Given the description of an element on the screen output the (x, y) to click on. 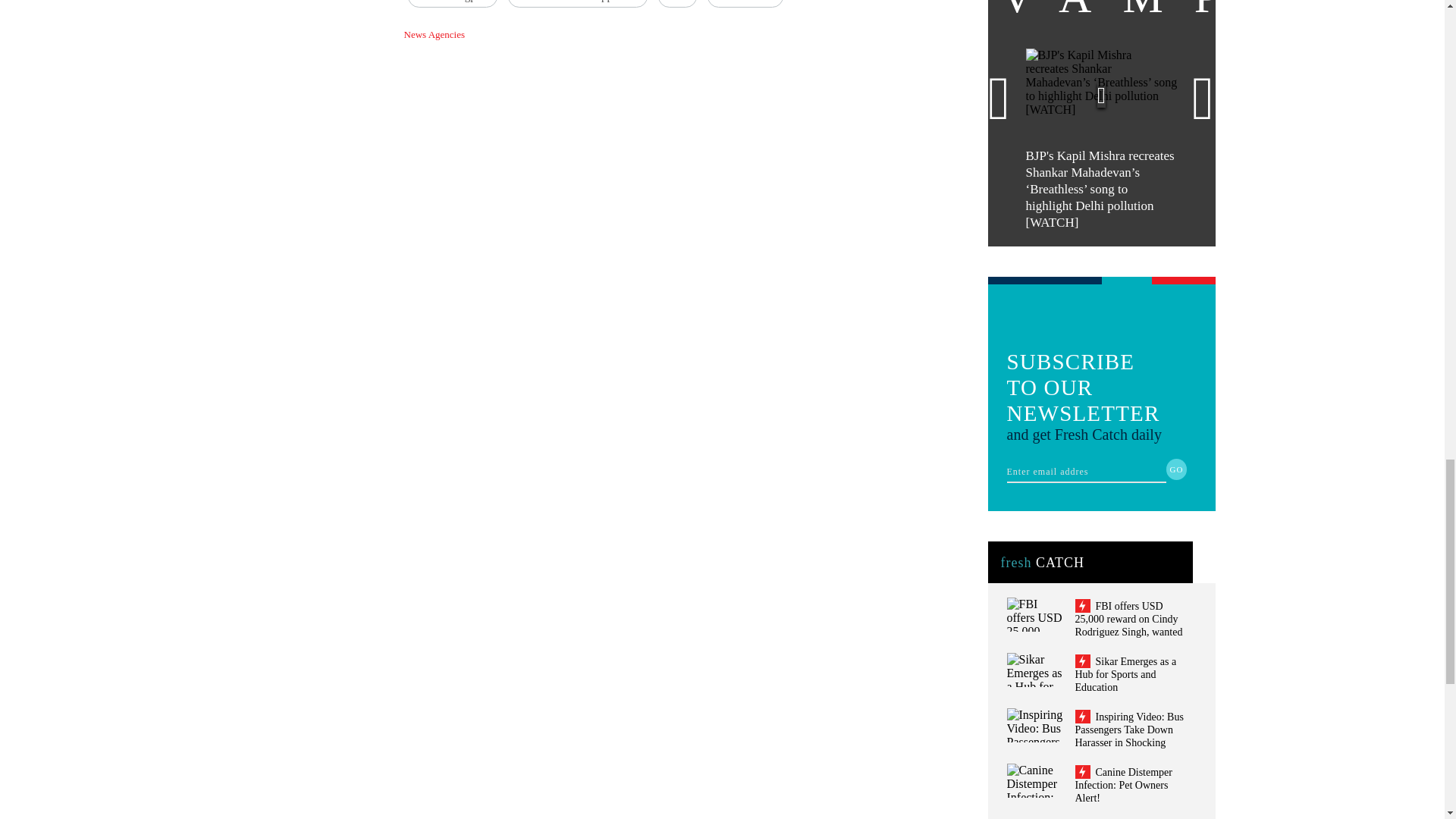
GO (1177, 468)
science behind happiness (577, 3)
new course (745, 3)
IIT Kharagpur (452, 3)
IIT (677, 3)
